Given the description of an element on the screen output the (x, y) to click on. 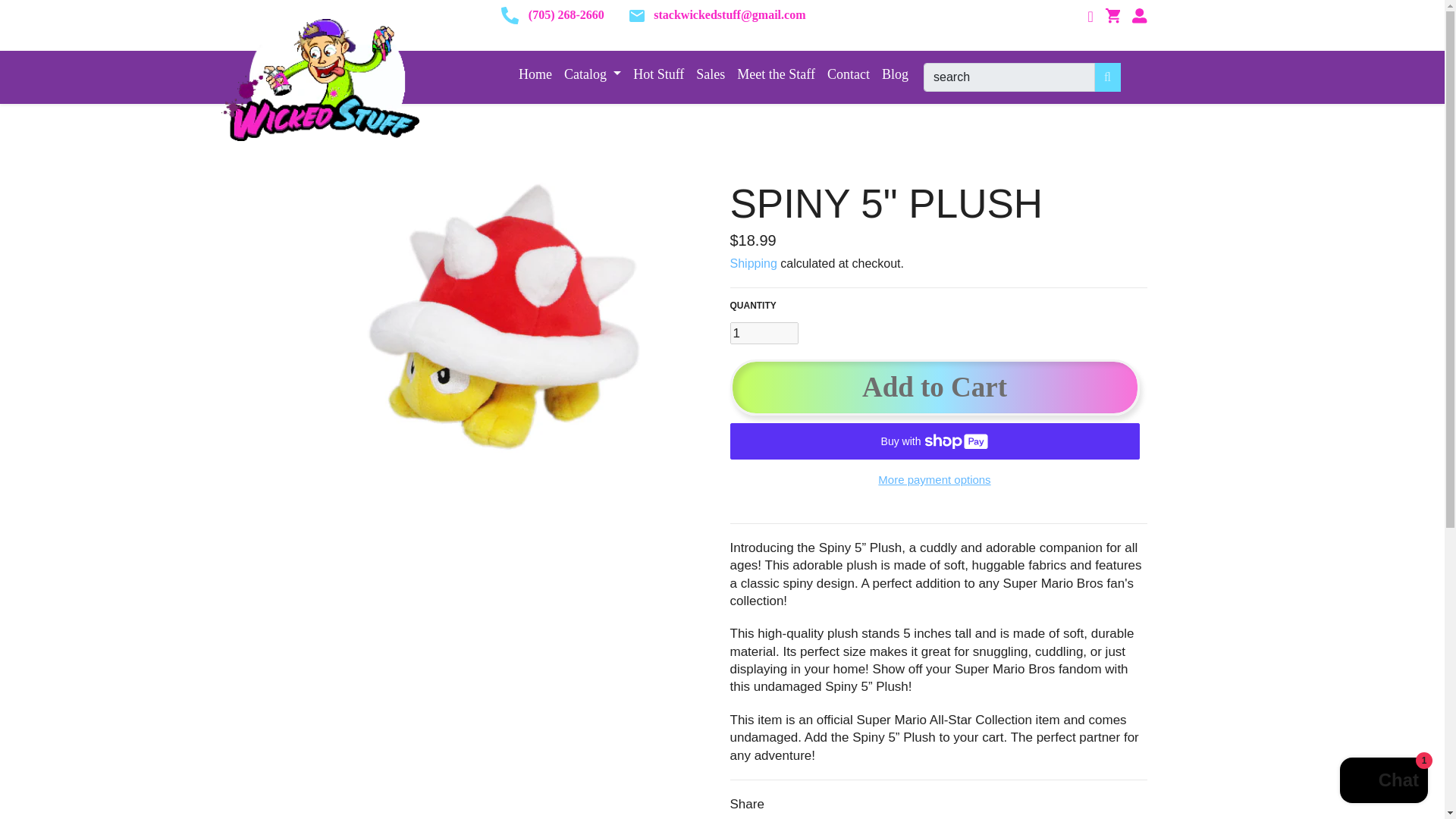
Catalog (592, 74)
search (1008, 77)
Home (534, 74)
search (1008, 77)
Meet the Staff (775, 74)
Contact (848, 74)
Shopify online store chat (1383, 781)
Hot Stuff (658, 74)
Sales (710, 74)
1 (763, 332)
Blog (895, 74)
